Given the description of an element on the screen output the (x, y) to click on. 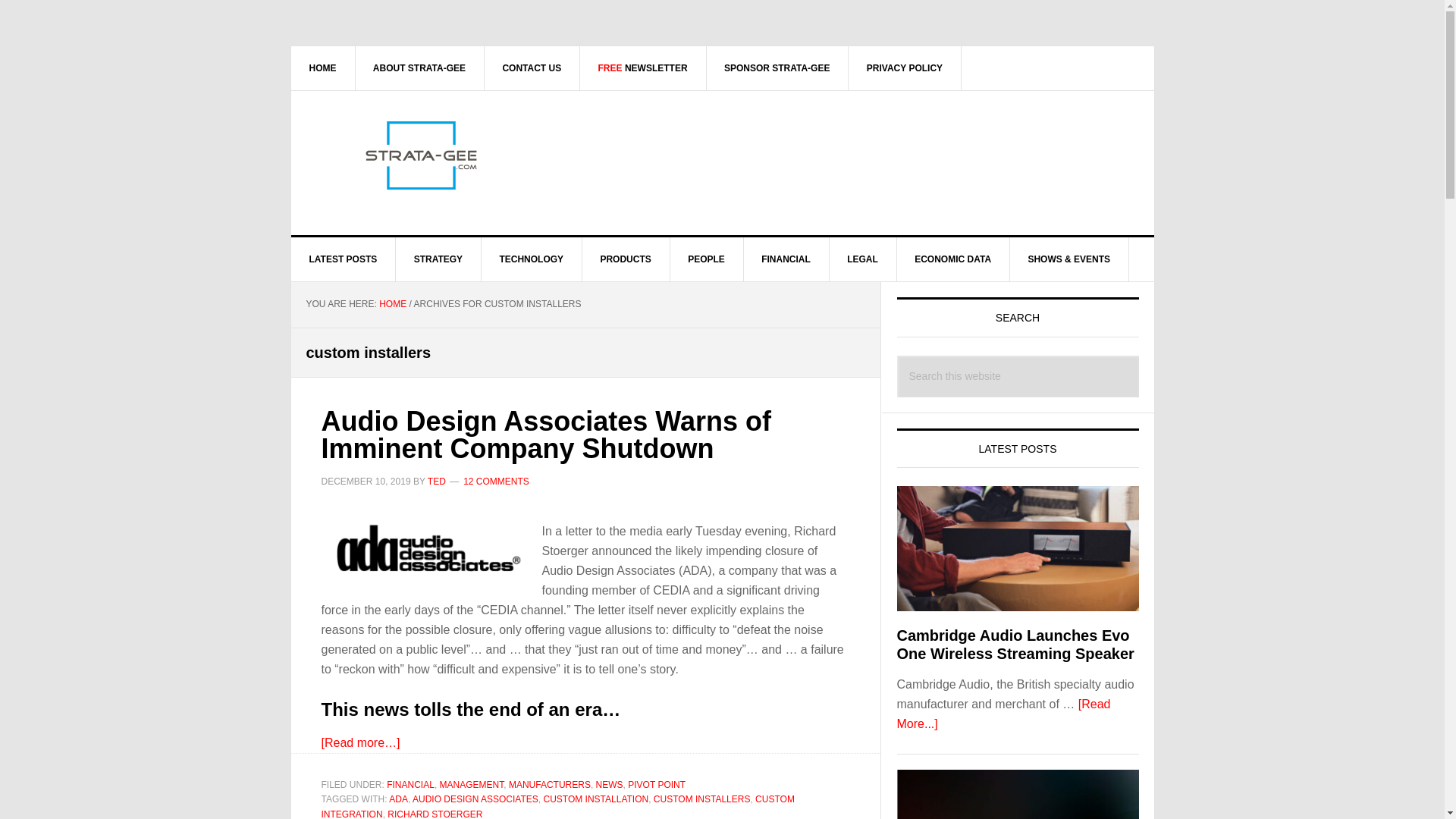
CUSTOM INTEGRATION (557, 806)
STRATA-GEE.COM (419, 155)
Audio Design Associates Warns of Imminent Company Shutdown (546, 433)
HOME (323, 67)
12 COMMENTS (496, 480)
CUSTOM INSTALLERS (702, 798)
FINANCIAL (410, 784)
MANUFACTURERS (549, 784)
NEWS (609, 784)
